Given the description of an element on the screen output the (x, y) to click on. 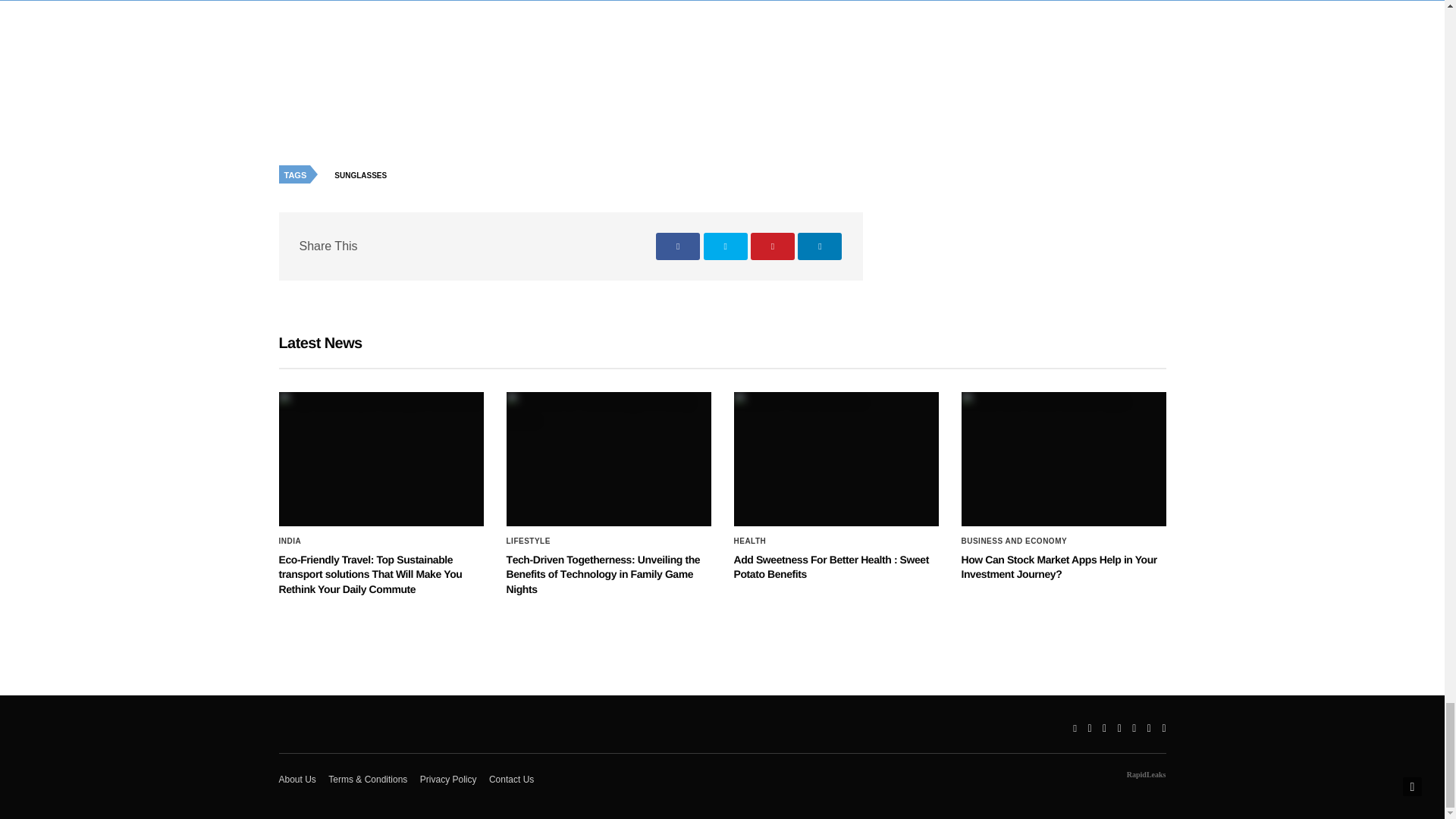
Health (750, 541)
India (290, 541)
How Can Stock Market Apps Help in Your Investment Journey? (1063, 459)
Add Sweetness For Better Health : Sweet Potato Benefits (830, 566)
Business and Economy (1013, 541)
Lifestyle (528, 541)
Add Sweetness For Better Health : Sweet Potato Benefits (836, 459)
